Given the description of an element on the screen output the (x, y) to click on. 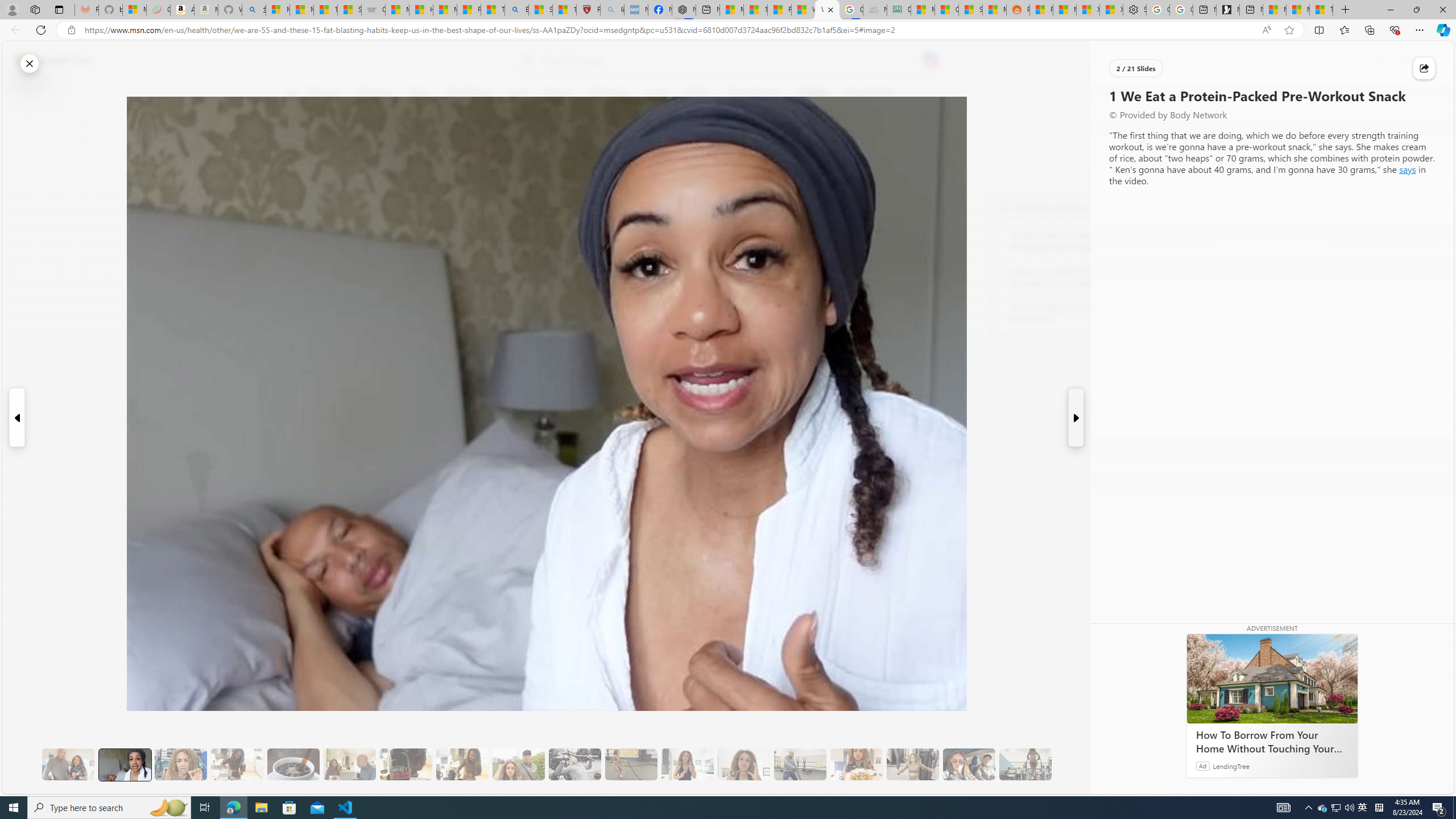
Robert H. Shmerling, MD - Harvard Health (588, 9)
13 Her Husband Does Group Cardio Classs (800, 764)
12 Proven Ways To Increase Your Metabolism (1071, 313)
5 She Eats Less Than Her Husband (349, 764)
Food & Drink (869, 92)
Technology (608, 92)
